Given the description of an element on the screen output the (x, y) to click on. 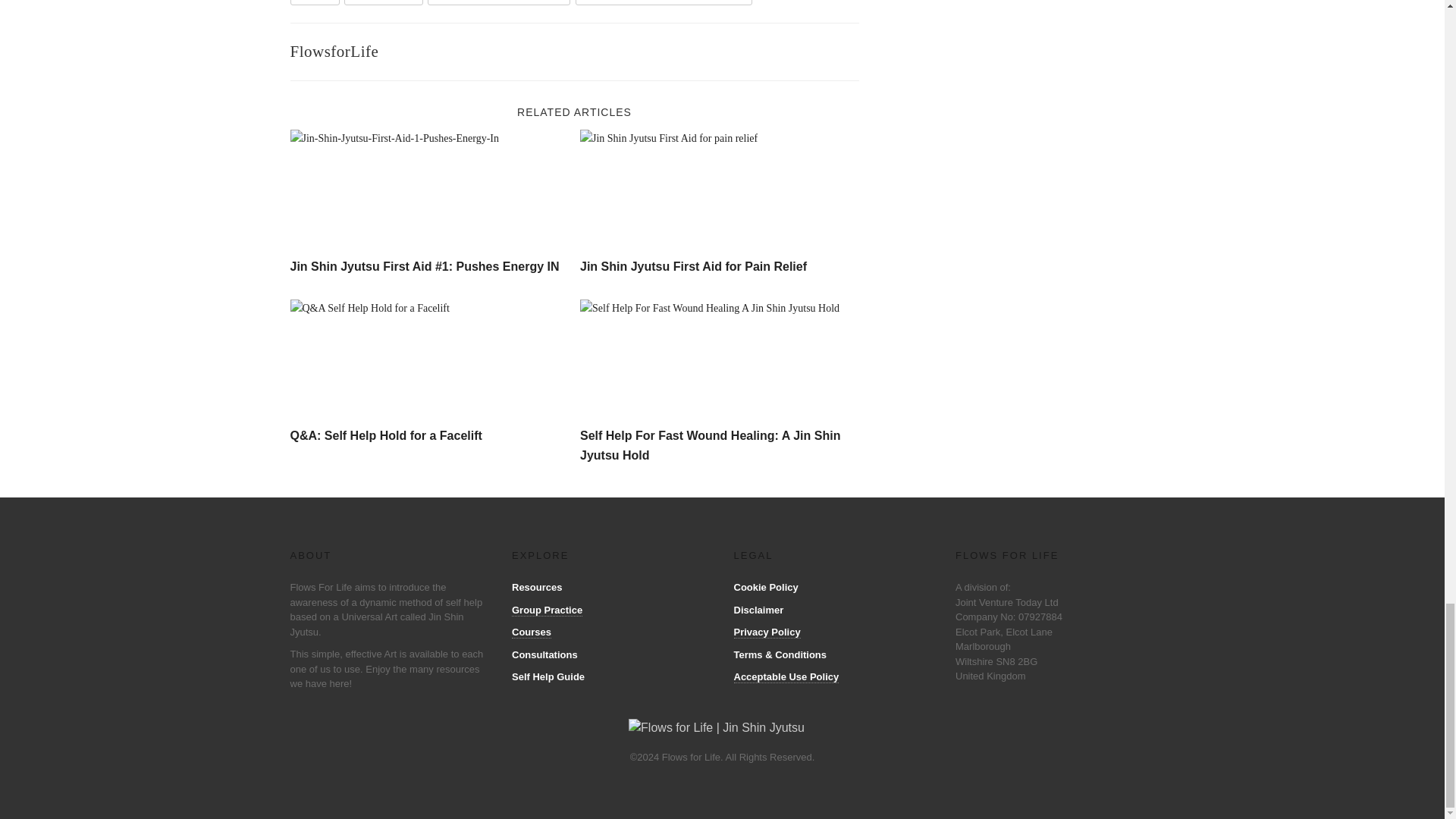
JIN SHIN JYUTSU FIRST AID (498, 2)
Jin Shin Jyutsu First Aid for Pain Relief (692, 266)
BURNS (314, 2)
JIN SHIN JYUTSU FIRST AID HOLDS (663, 2)
burns Tag (314, 2)
FlowsforLife (333, 51)
jin shin jyutsu first aid Tag (498, 2)
jin shin jyutsu first aid holds Tag (663, 2)
energy out Tag (382, 2)
ENERGY OUT (382, 2)
